Given the description of an element on the screen output the (x, y) to click on. 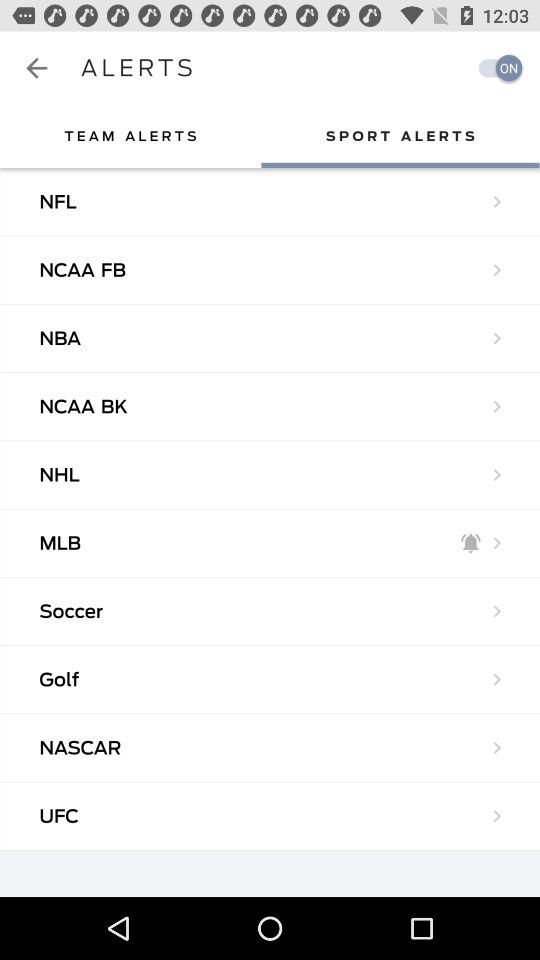
select the item to the right of alerts app (495, 67)
